Given the description of an element on the screen output the (x, y) to click on. 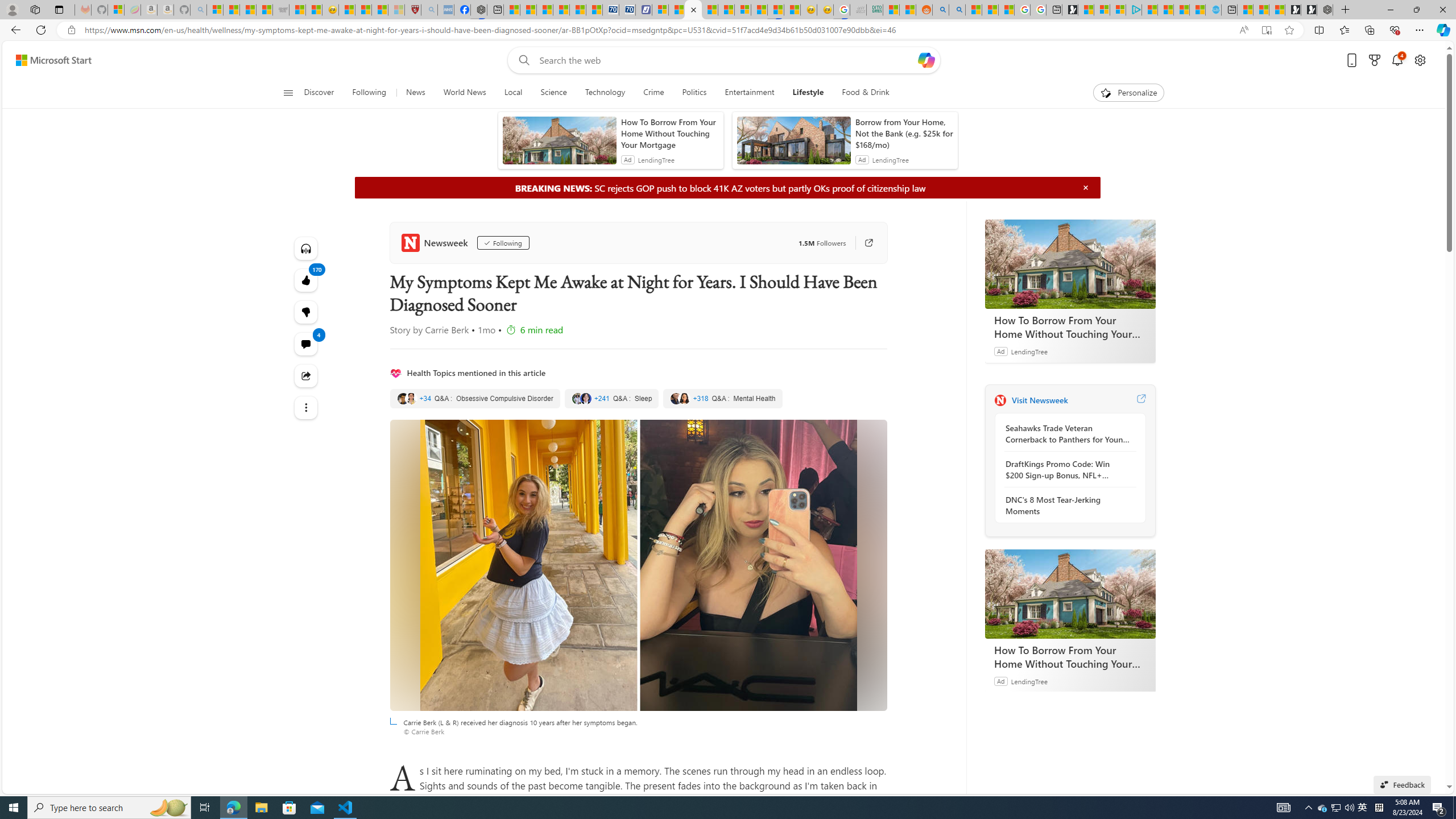
Food & Drink (860, 92)
Open settings (1420, 60)
Crime (653, 92)
MSN (775, 9)
Hide (1084, 187)
Science - MSN (379, 9)
Robert H. Shmerling, MD - Harvard Health (413, 9)
